Given the description of an element on the screen output the (x, y) to click on. 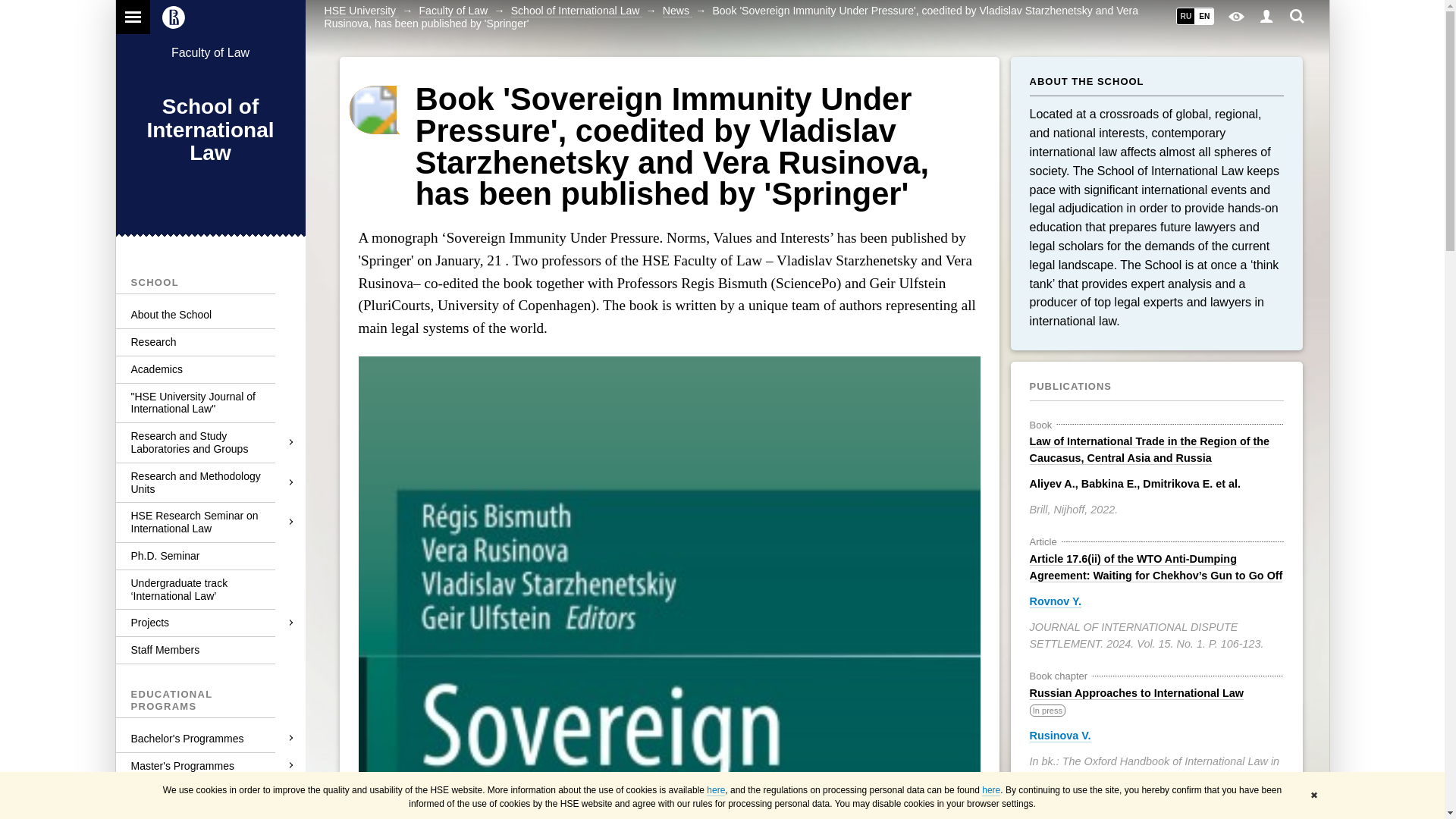
here (715, 790)
About the School (209, 315)
Faculty of Law (455, 10)
School of International Law (577, 10)
News (677, 10)
"HSE University Journal of International Law" (209, 403)
Staff Members (209, 650)
HSE University (361, 10)
Faculty of Law (209, 51)
